Given the description of an element on the screen output the (x, y) to click on. 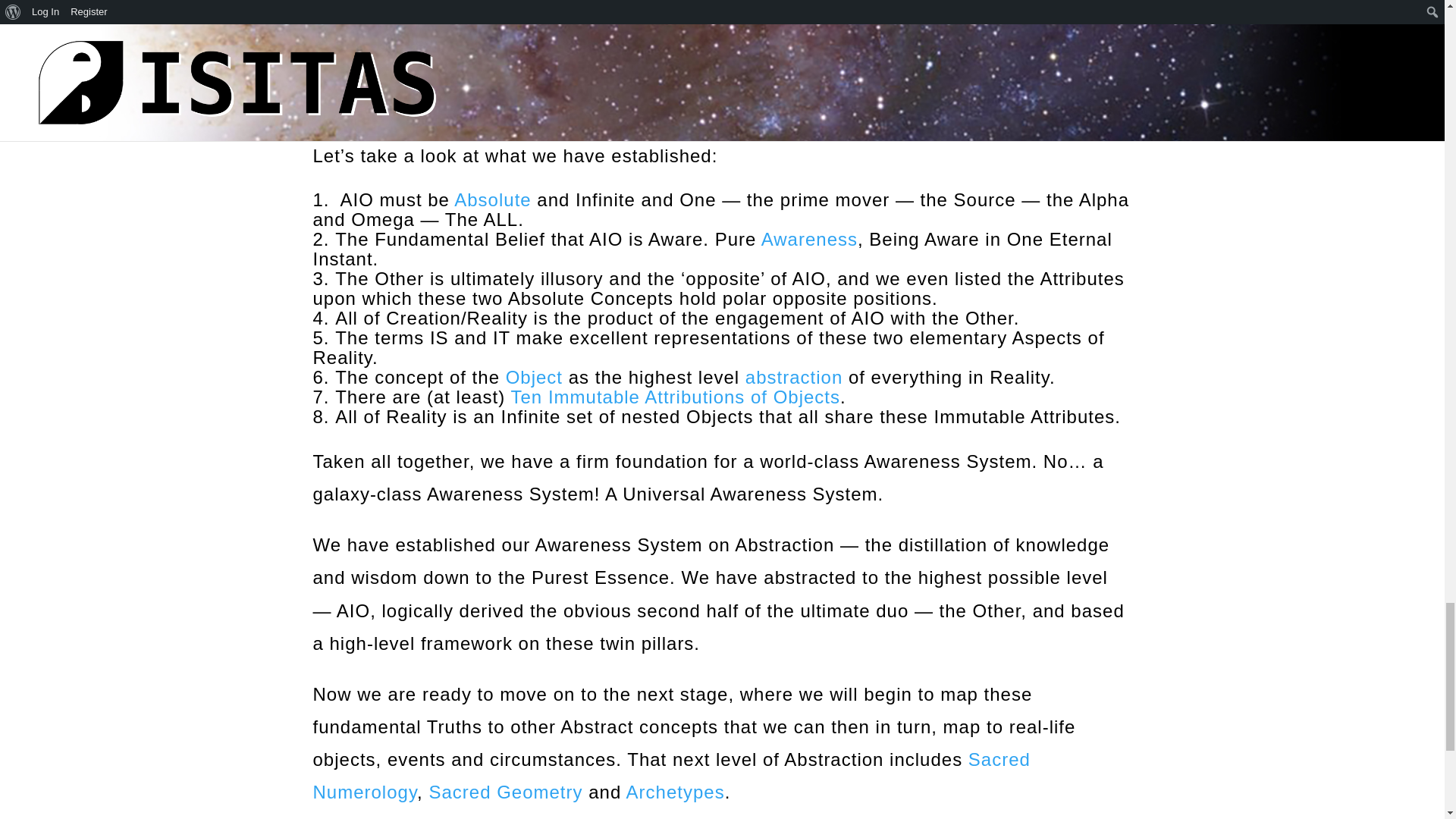
Sacred Numerology (671, 775)
Awareness (809, 239)
abstraction (794, 376)
Absolute (492, 199)
Ten Immutable Attributions of Objects (676, 396)
Object (533, 376)
Sacred Geometry (505, 792)
Archetypes (675, 792)
